Given the description of an element on the screen output the (x, y) to click on. 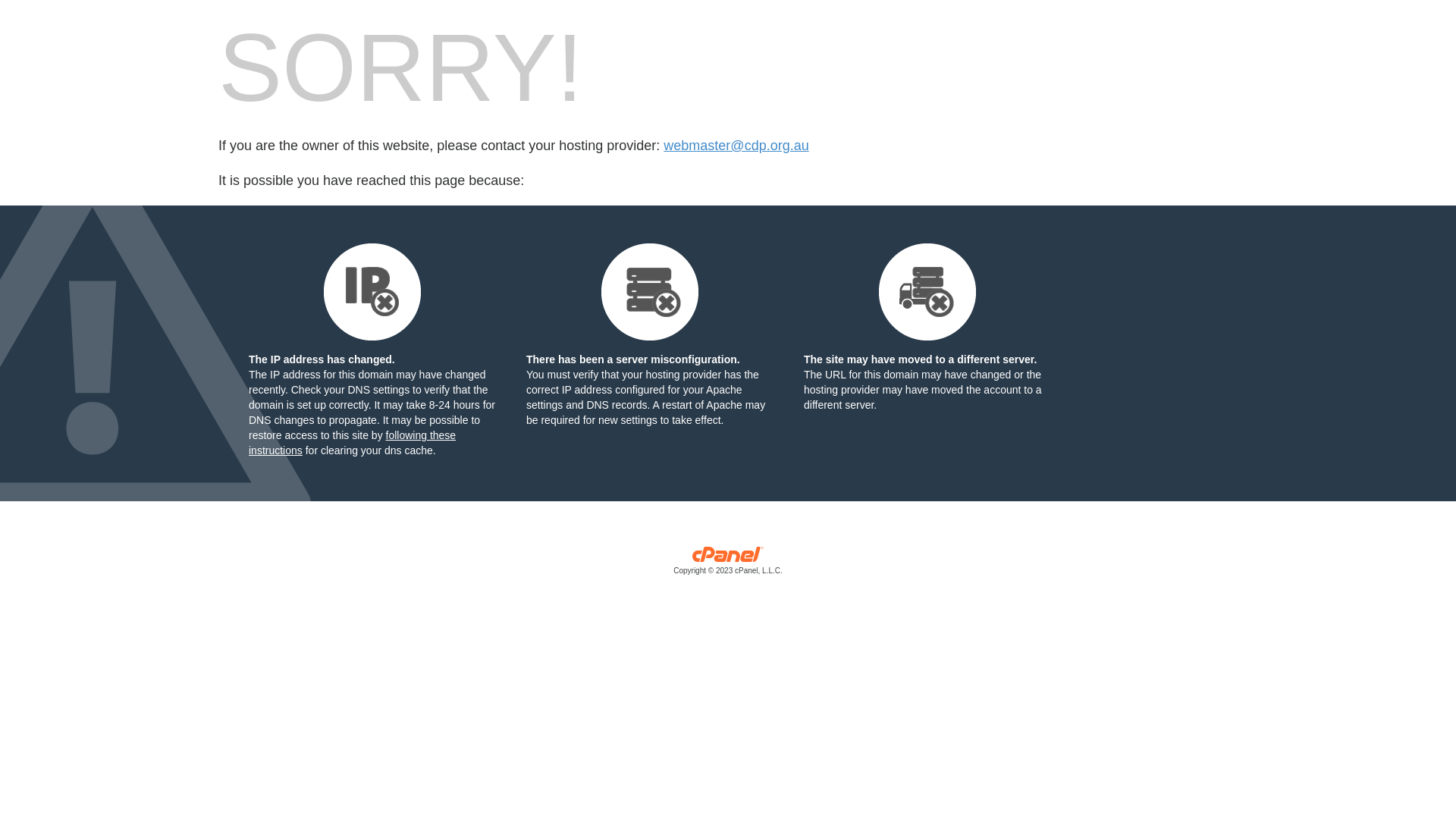
following these instructions Element type: text (351, 442)
webmaster@cdp.org.au Element type: text (735, 145)
